Given the description of an element on the screen output the (x, y) to click on. 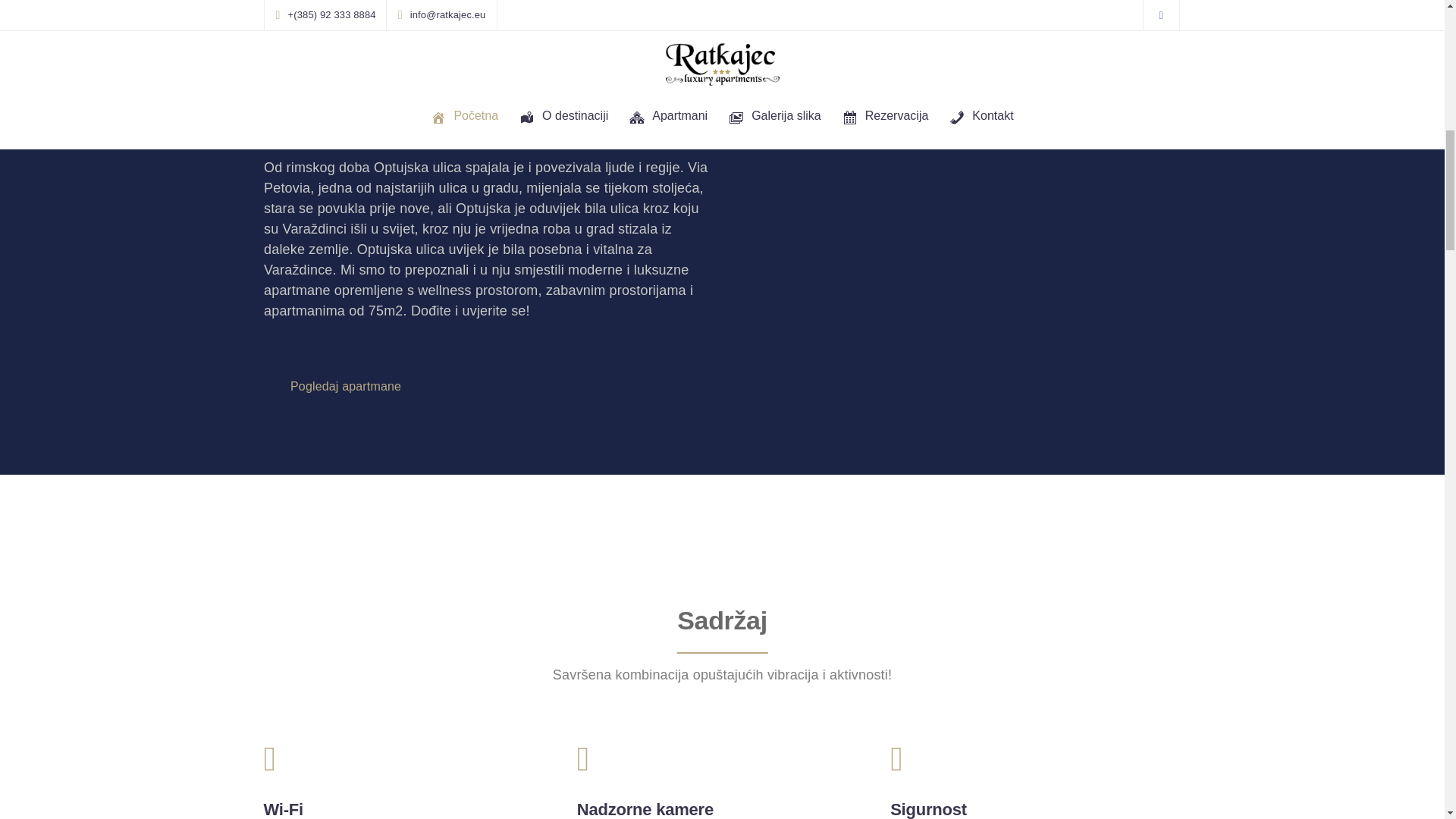
Pogledaj apartmane (353, 388)
